Given the description of an element on the screen output the (x, y) to click on. 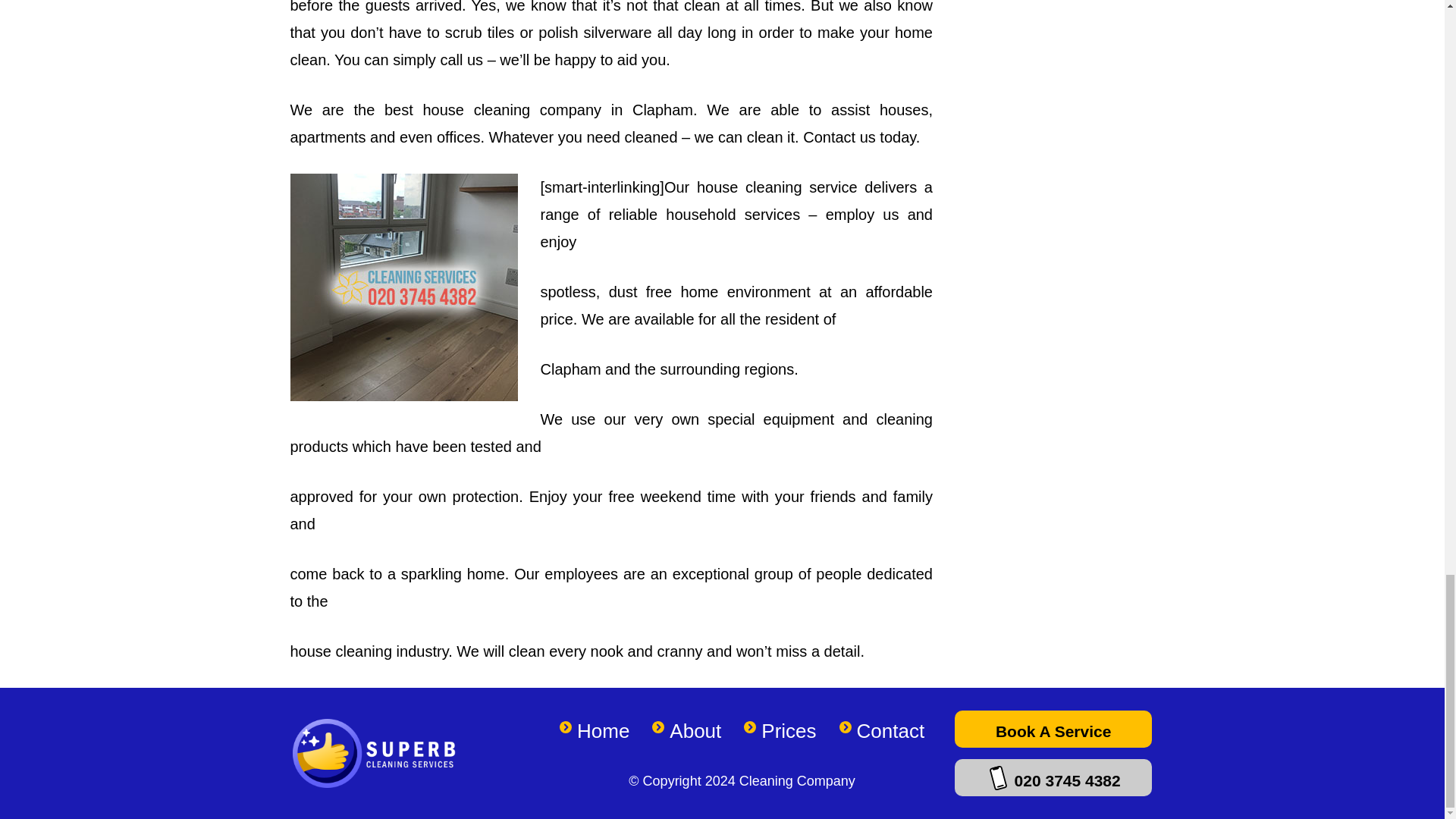
About (694, 730)
Prices (788, 730)
Book A Service (1053, 728)
Contact (890, 730)
020 3745 4382 (1053, 777)
Home (602, 730)
